Given the description of an element on the screen output the (x, y) to click on. 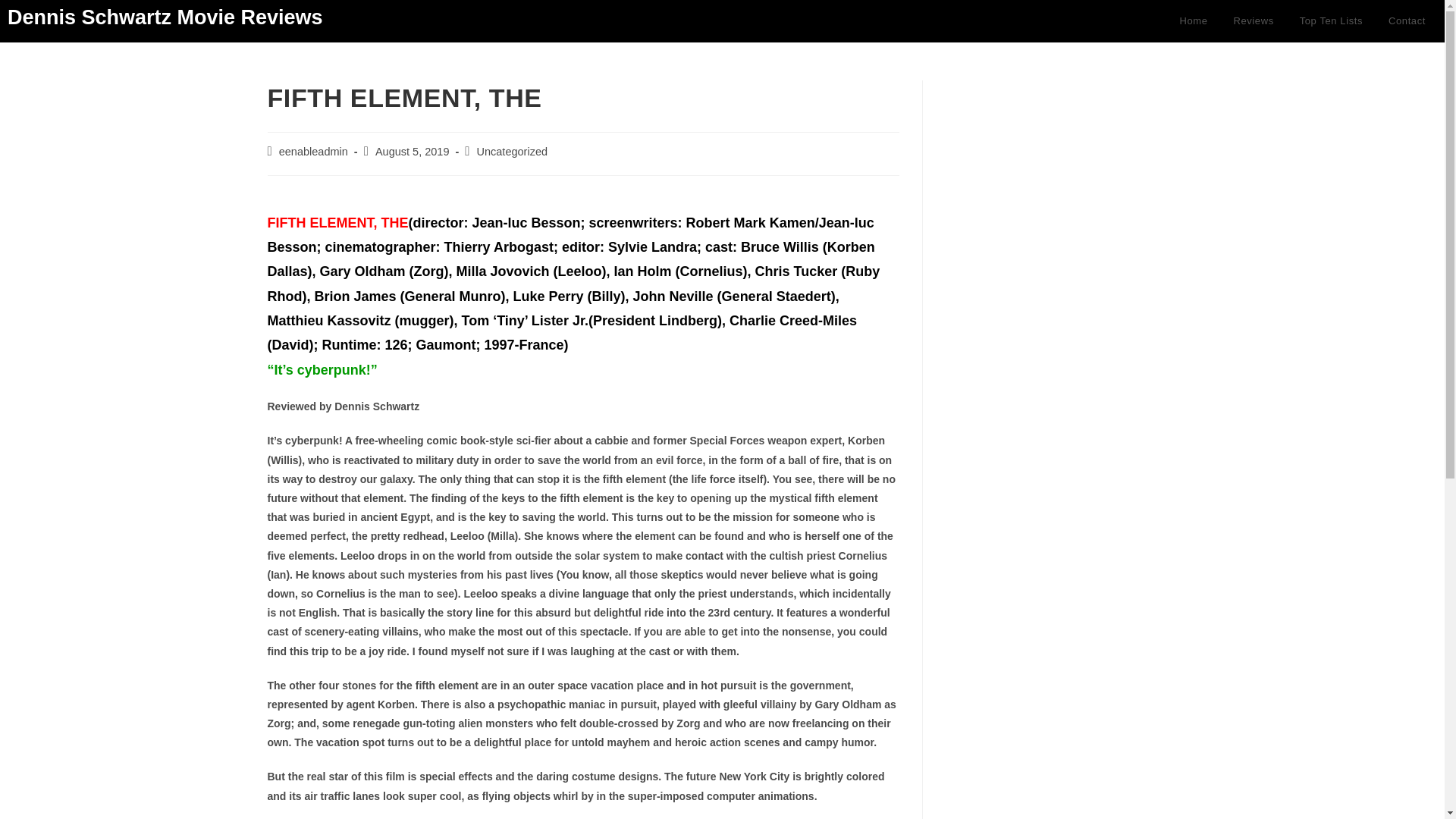
Top Ten Lists (1331, 21)
Contact (1407, 21)
Home (1192, 21)
Posts by eenableadmin (313, 151)
eenableadmin (313, 151)
Reviews (1252, 21)
